Given the description of an element on the screen output the (x, y) to click on. 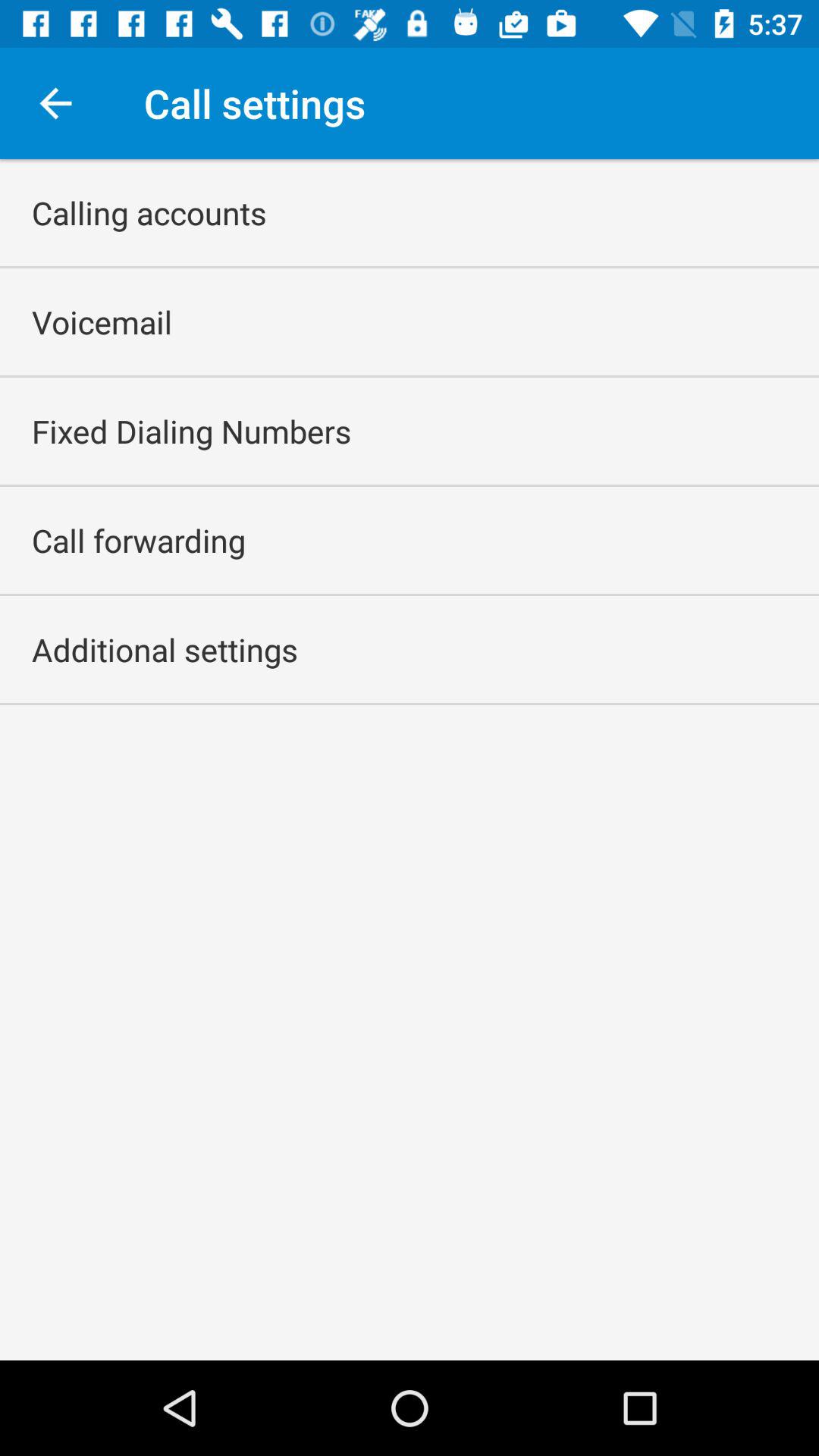
turn off calling accounts (148, 212)
